Given the description of an element on the screen output the (x, y) to click on. 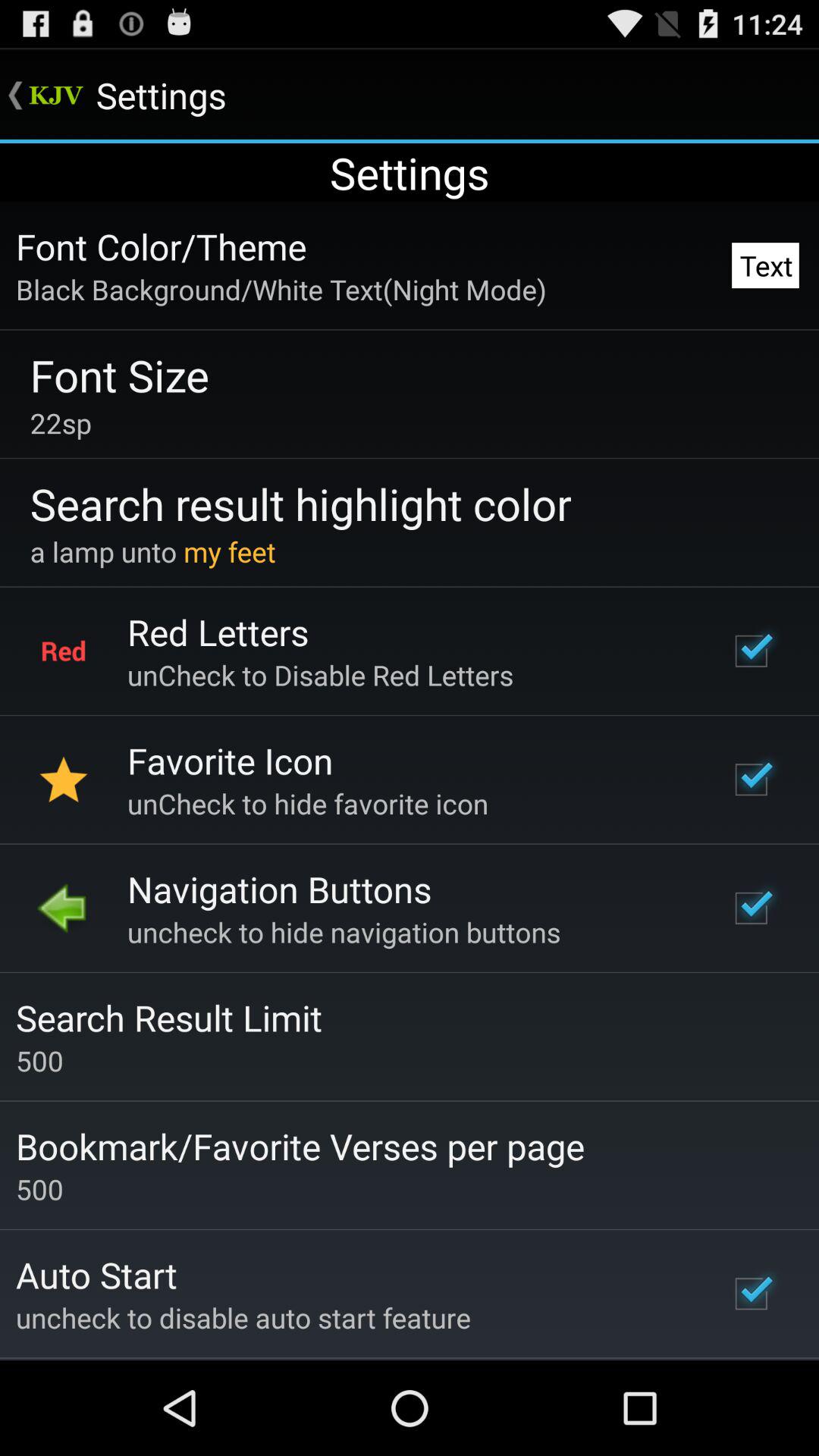
turn on icon next to text item (280, 289)
